Given the description of an element on the screen output the (x, y) to click on. 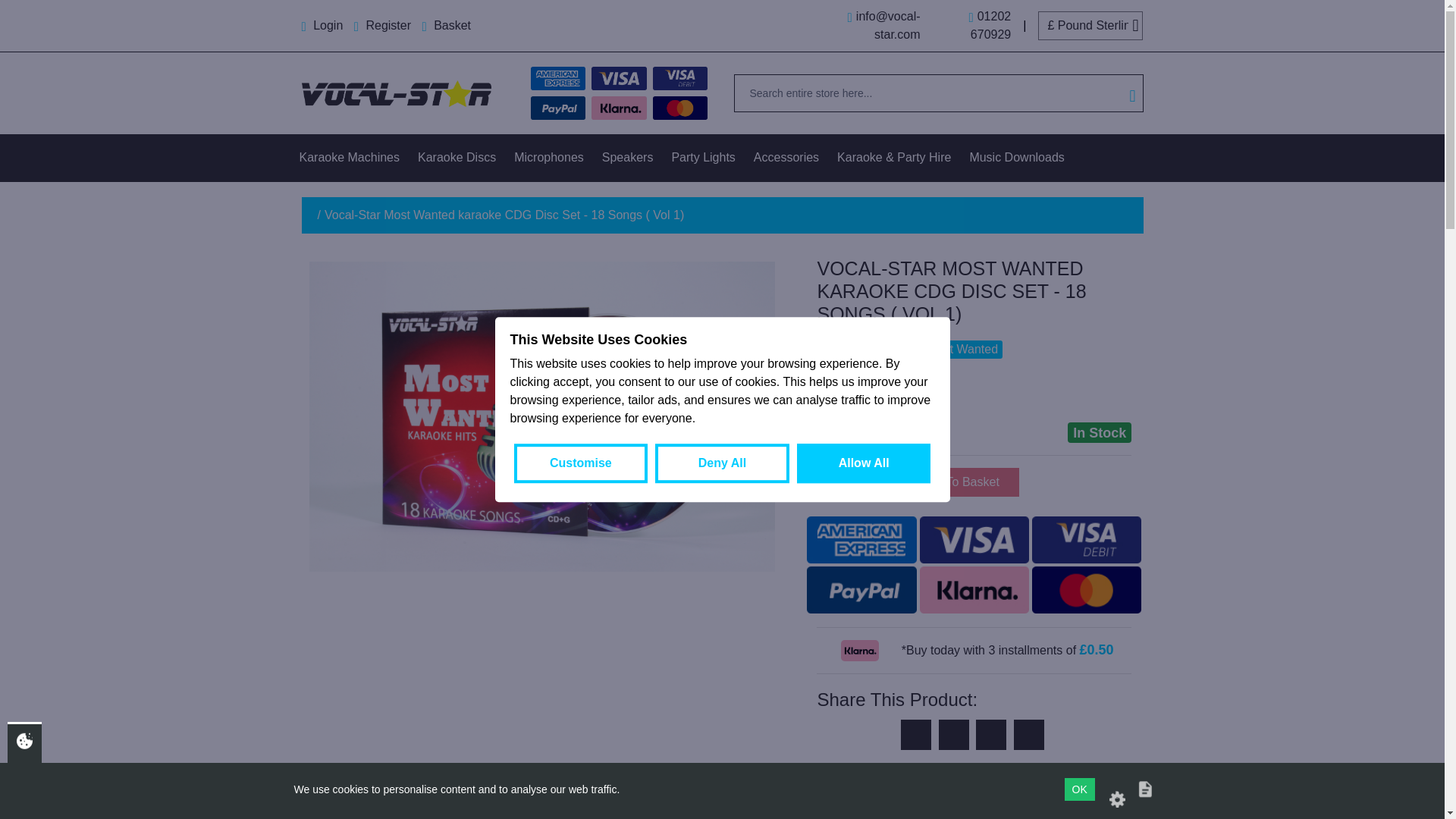
Register (383, 24)
Speakers (627, 157)
Karaoke Machines (349, 157)
Basket (446, 24)
01202 670929 (969, 25)
Microphones (548, 157)
Back To Top (1414, 788)
Login (323, 24)
1 (846, 481)
Party Lights (703, 157)
Accessories (786, 157)
Karaoke Discs (457, 157)
